Given the description of an element on the screen output the (x, y) to click on. 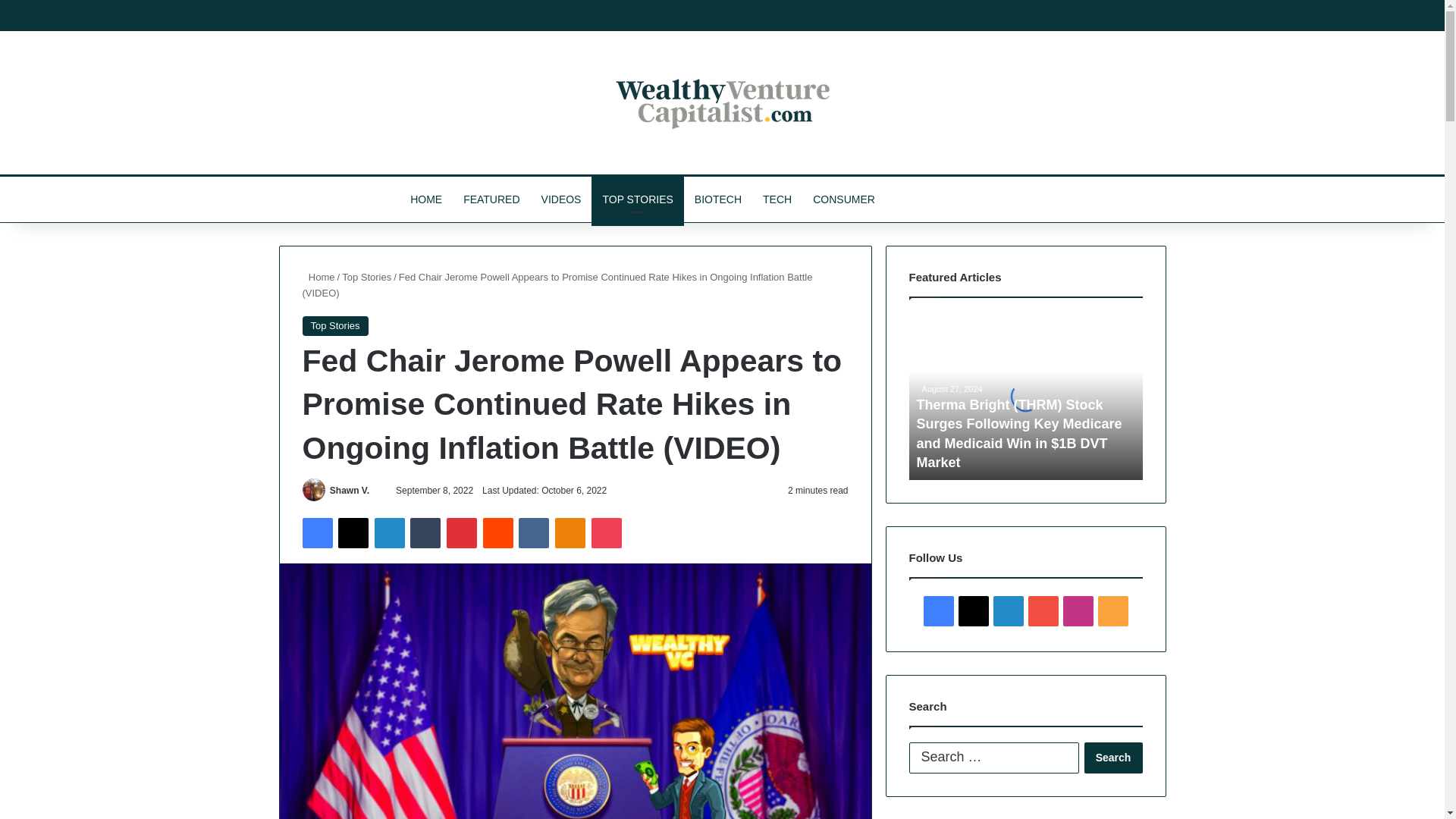
Shawn V. (349, 490)
FEATURED (490, 198)
Top Stories (366, 276)
TOP STORIES (636, 198)
Odnoklassniki (569, 531)
TECH (777, 198)
VKontakte (533, 531)
X (352, 531)
Pinterest (461, 531)
Facebook (316, 531)
